Given the description of an element on the screen output the (x, y) to click on. 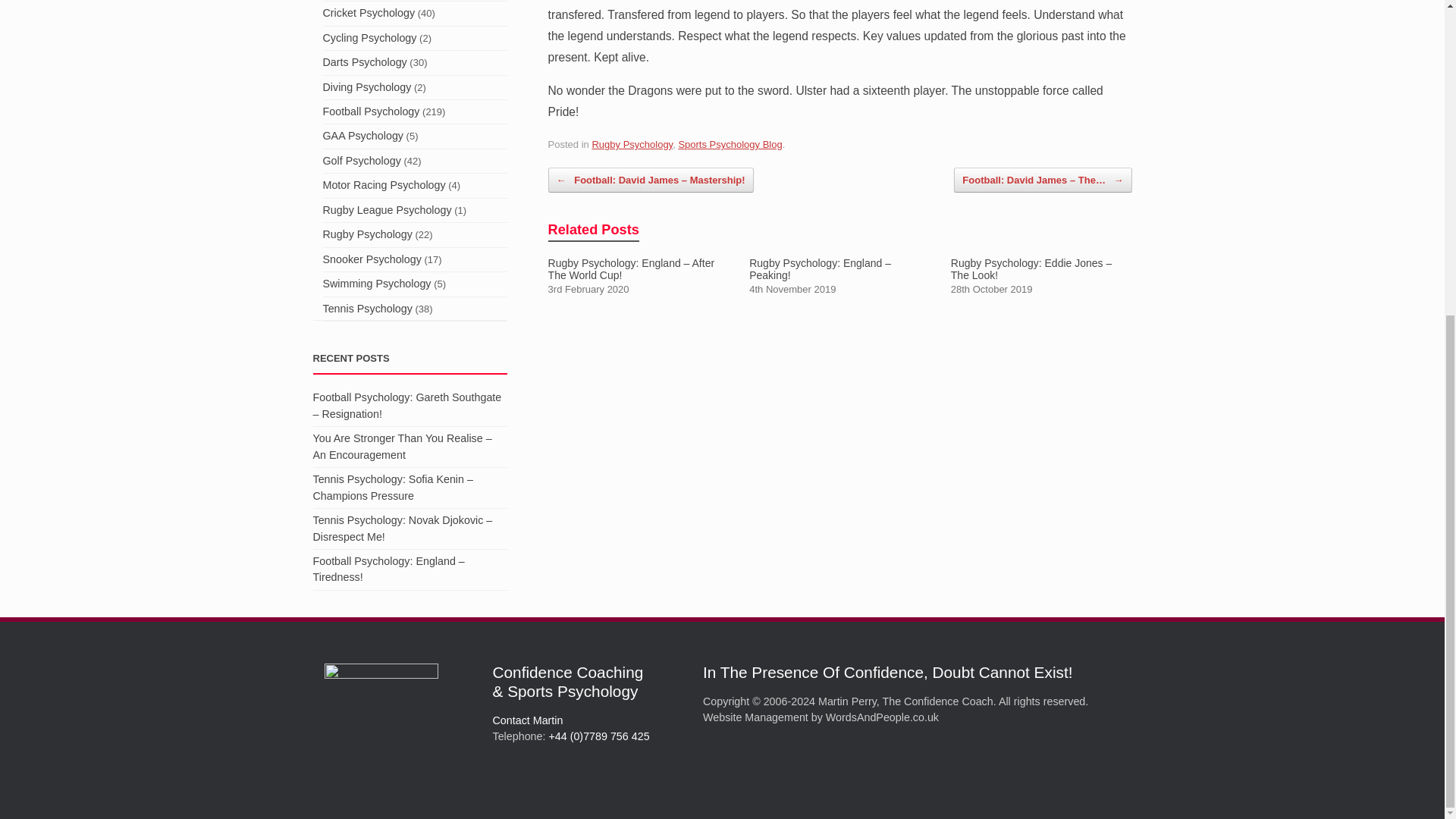
Sports Psychology Blog (729, 143)
Gold foil texture background (381, 720)
Rugby Psychology (631, 143)
